Given the description of an element on the screen output the (x, y) to click on. 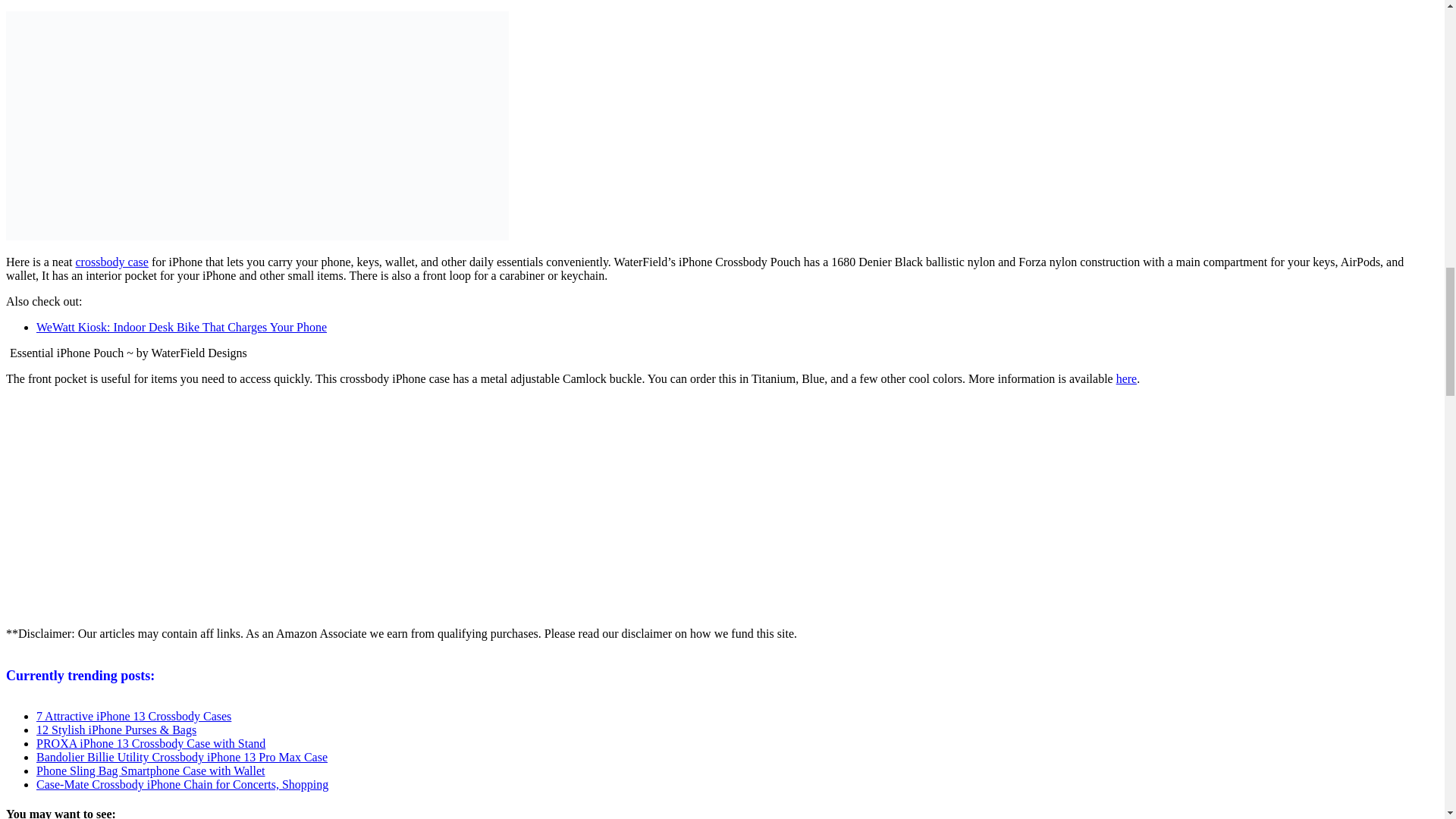
PROXA iPhone 13 Crossbody Case with Stand (150, 743)
Phone Sling Bag Smartphone Case with Wallet (150, 770)
Bandolier Billie Utility Crossbody iPhone 13 Pro Max Case (181, 757)
7 Attractive iPhone 13 Crossbody Cases (133, 716)
